Given the description of an element on the screen output the (x, y) to click on. 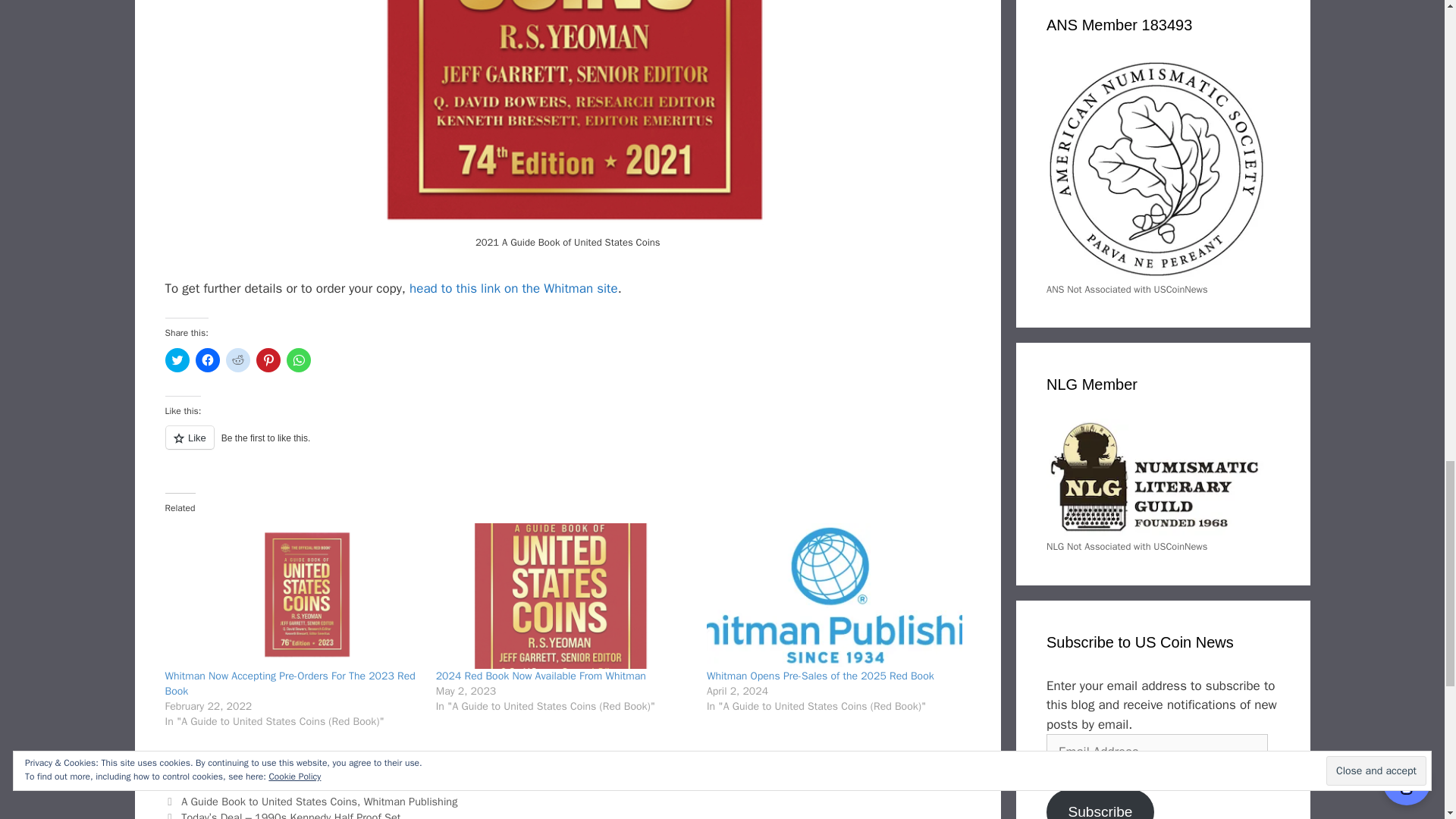
Whitman Opens Pre-Sales of the 2025 Red Book (834, 596)
2024 Red Book Now Available From Whitman (540, 675)
Like or Reblog (568, 445)
Click to share on WhatsApp (298, 360)
Click to share on Reddit (237, 360)
Whitman Publishing (411, 801)
Whitman Opens Pre-Sales of the 2025 Red Book (820, 675)
Whitman Now Accepting Pre-Orders For The 2023 Red Book (292, 596)
2024 Red Book Now Available From Whitman (563, 596)
Whitman Opens Pre-Sales of the 2025 Red Book (820, 675)
head to this link on the Whitman site (513, 288)
Click to share on Twitter (177, 360)
Click to share on Facebook (207, 360)
Click to share on Pinterest (268, 360)
A Guide Book to United States Coins (268, 801)
